Given the description of an element on the screen output the (x, y) to click on. 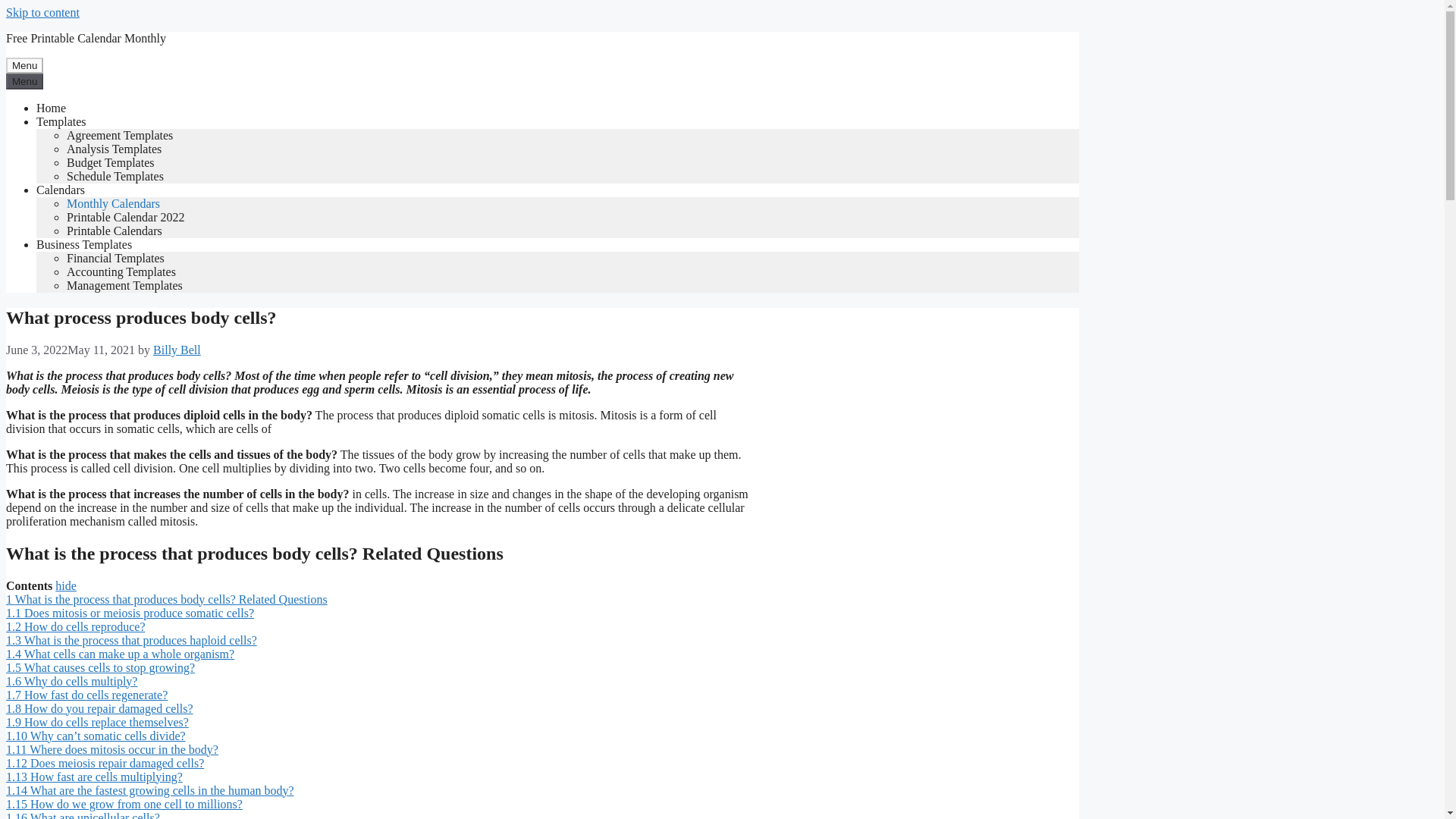
Schedule Templates (114, 175)
Menu (24, 81)
View all posts by Billy Bell (176, 349)
Printable Calendars (113, 230)
1.2 How do cells reproduce? (75, 626)
1.14 What are the fastest growing cells in the human body? (149, 789)
Billy Bell (176, 349)
1.16 What are unicellular cells? (82, 815)
1.7 How fast do cells regenerate? (86, 694)
1.8 How do you repair damaged cells? (99, 707)
